Given the description of an element on the screen output the (x, y) to click on. 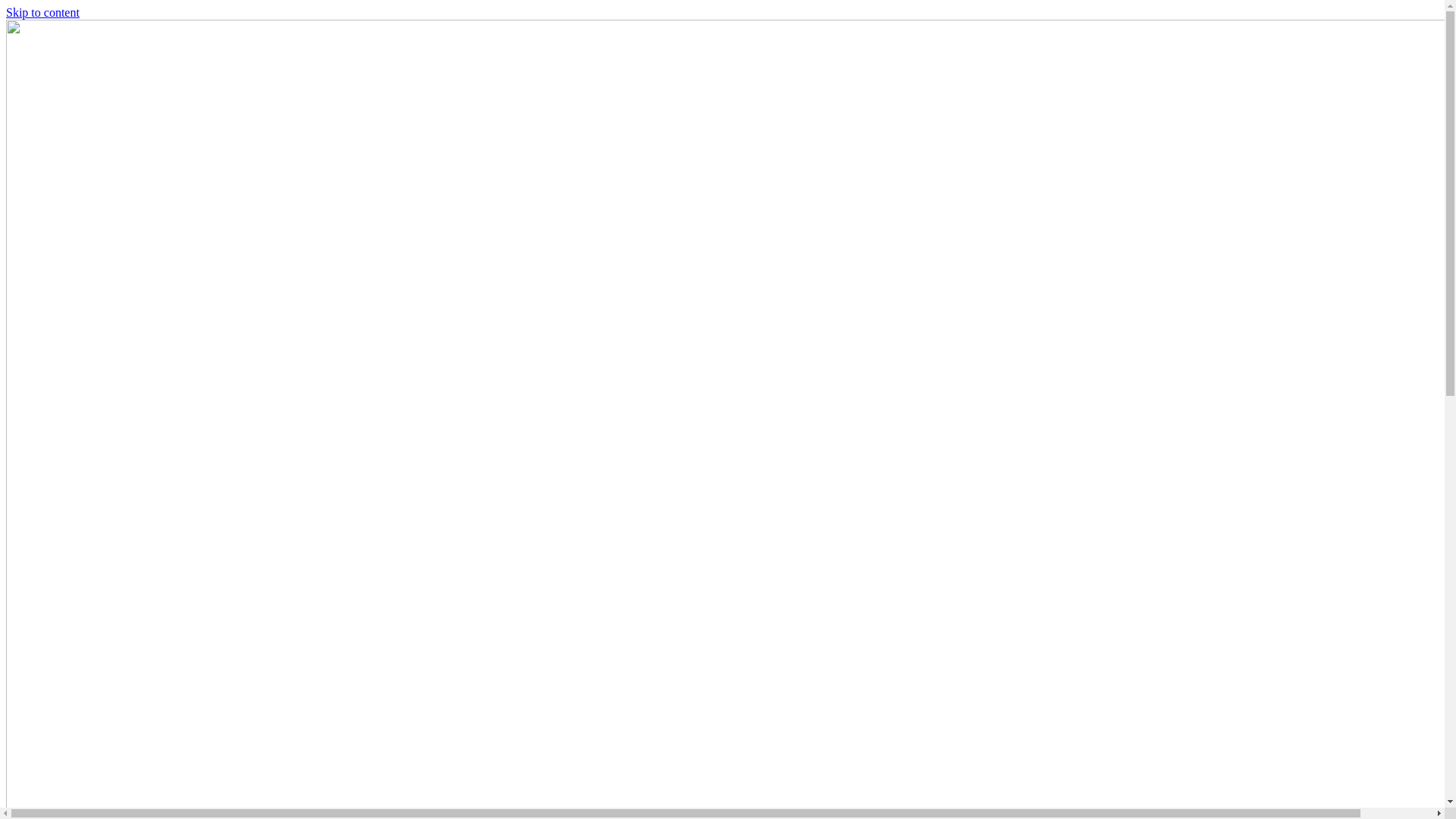
Skip to content Element type: text (42, 12)
